Given the description of an element on the screen output the (x, y) to click on. 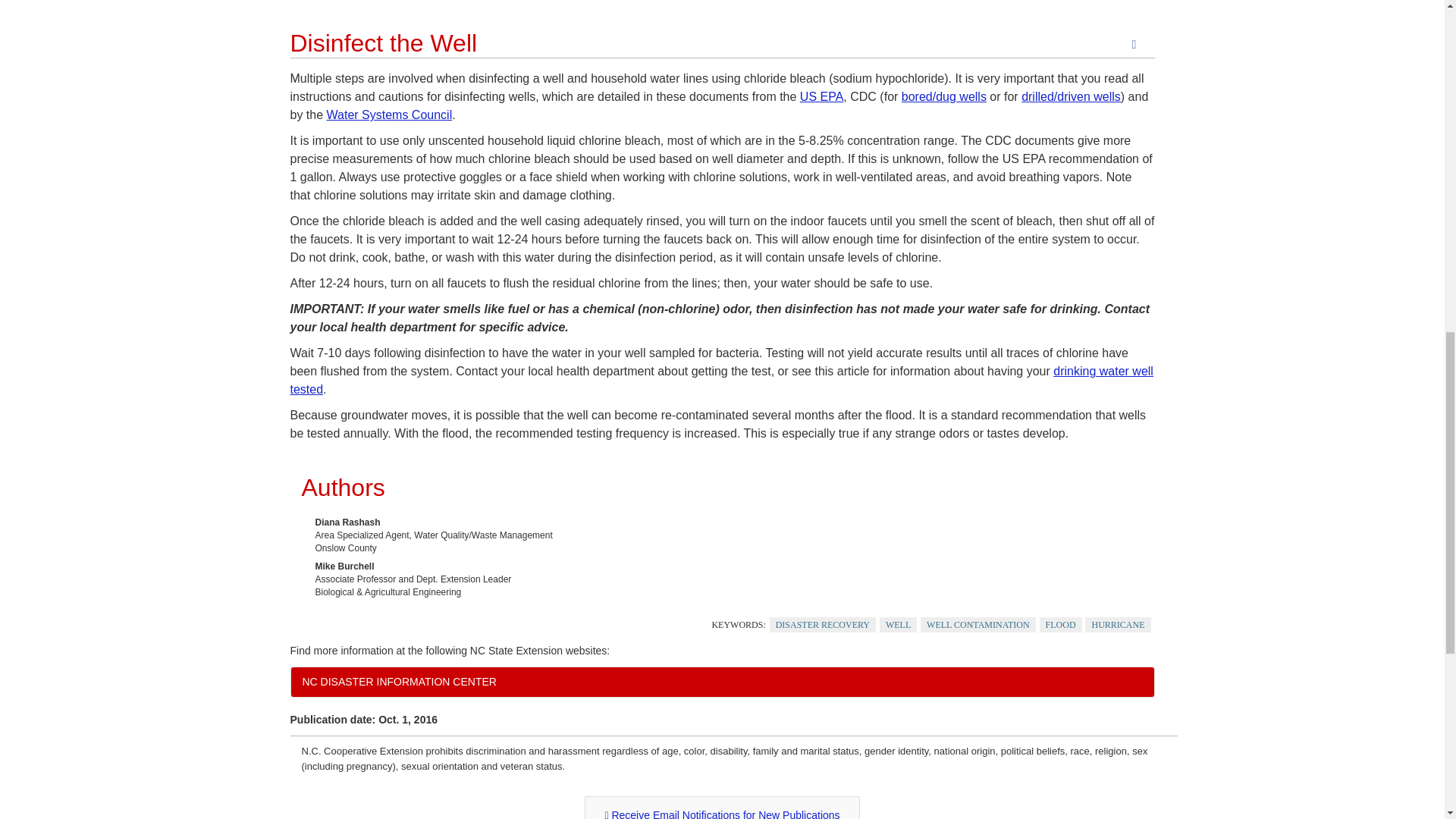
FLOOD (1060, 624)
drinking water well tested (721, 379)
NC DISASTER INFORMATION CENTER (721, 681)
HURRICANE (1117, 624)
DISASTER RECOVERY (823, 624)
WELL CONTAMINATION (977, 624)
US EPA (821, 96)
WELL (898, 624)
Water Systems Council (389, 114)
Receive Email Notifications for New Publications (722, 807)
